Given the description of an element on the screen output the (x, y) to click on. 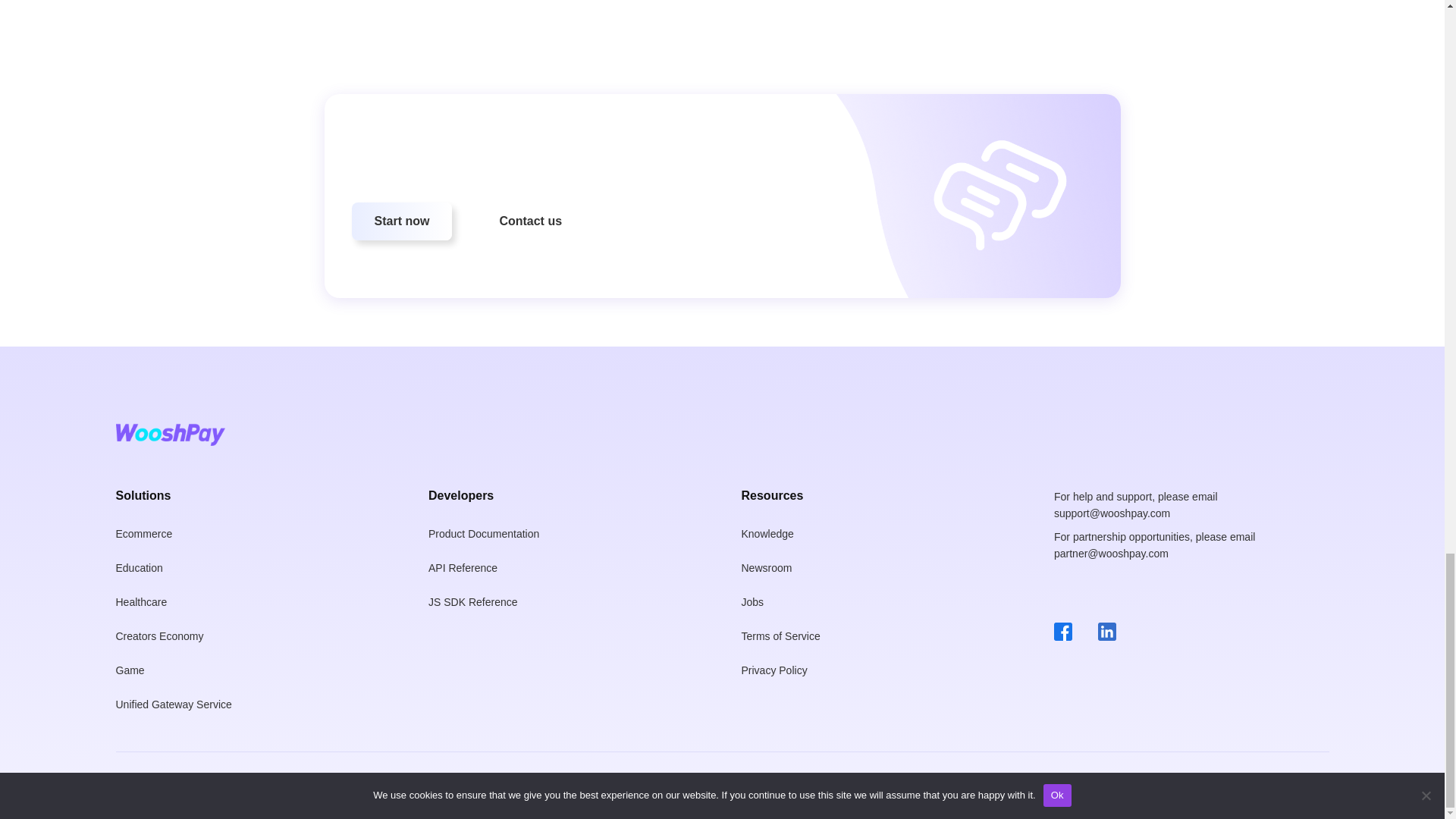
Education (139, 558)
Healthcare (141, 592)
Contact us (530, 221)
Ecommerce (144, 525)
Start now (402, 221)
